Given the description of an element on the screen output the (x, y) to click on. 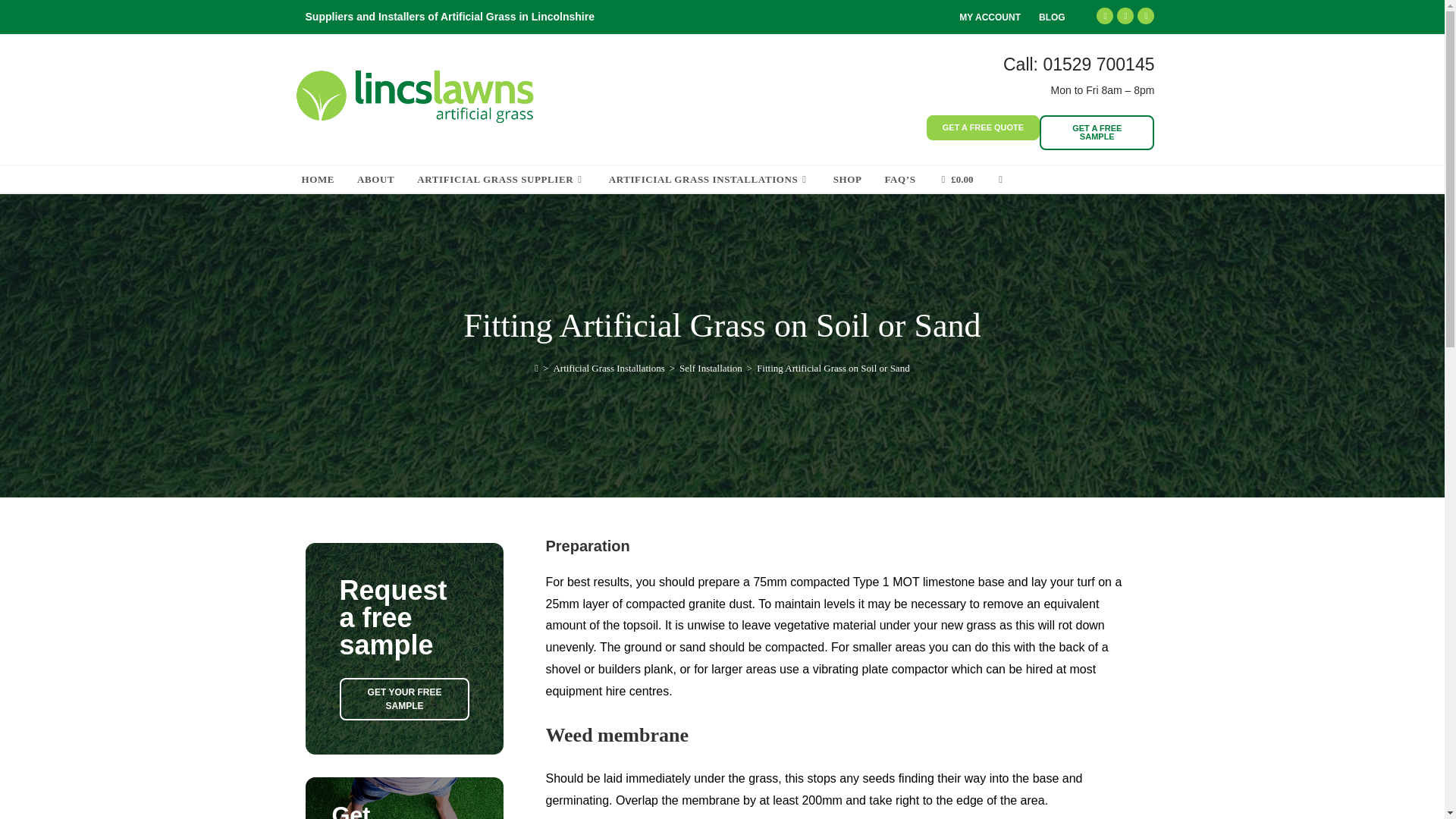
GET A FREE SAMPLE (1096, 132)
ARTIFICIAL GRASS INSTALLATIONS (709, 179)
GET A FREE QUOTE (982, 127)
ARTIFICIAL GRASS SUPPLIER (501, 179)
BLOG (1052, 17)
HOME (317, 179)
ABOUT (376, 179)
SHOP (847, 179)
MY ACCOUNT (989, 17)
